Given the description of an element on the screen output the (x, y) to click on. 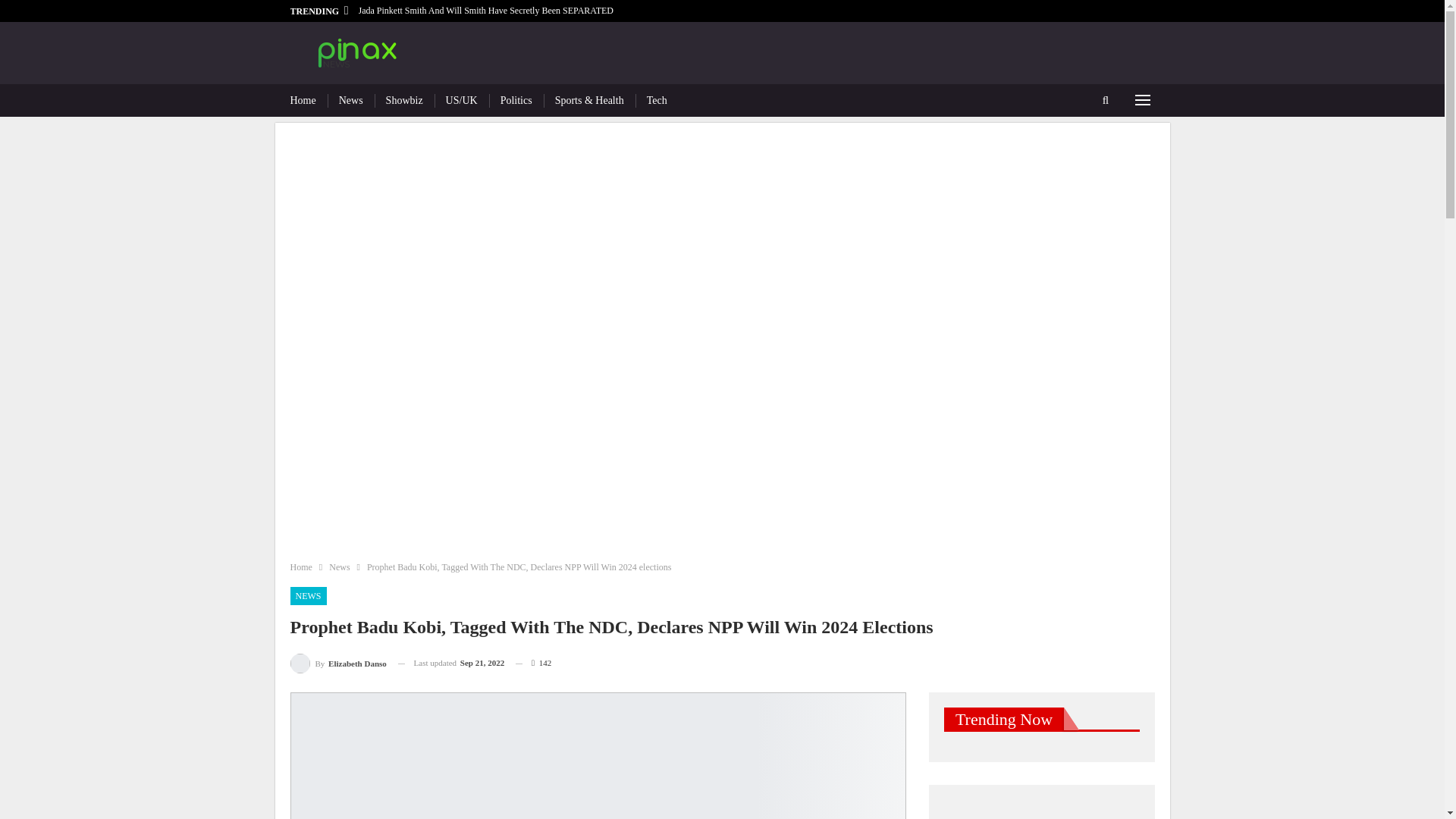
Politics (516, 100)
NEWS (307, 596)
News (339, 566)
By Elizabeth Danso (337, 662)
Showbiz (404, 100)
Home (300, 566)
Browse Author Articles (337, 662)
